Given the description of an element on the screen output the (x, y) to click on. 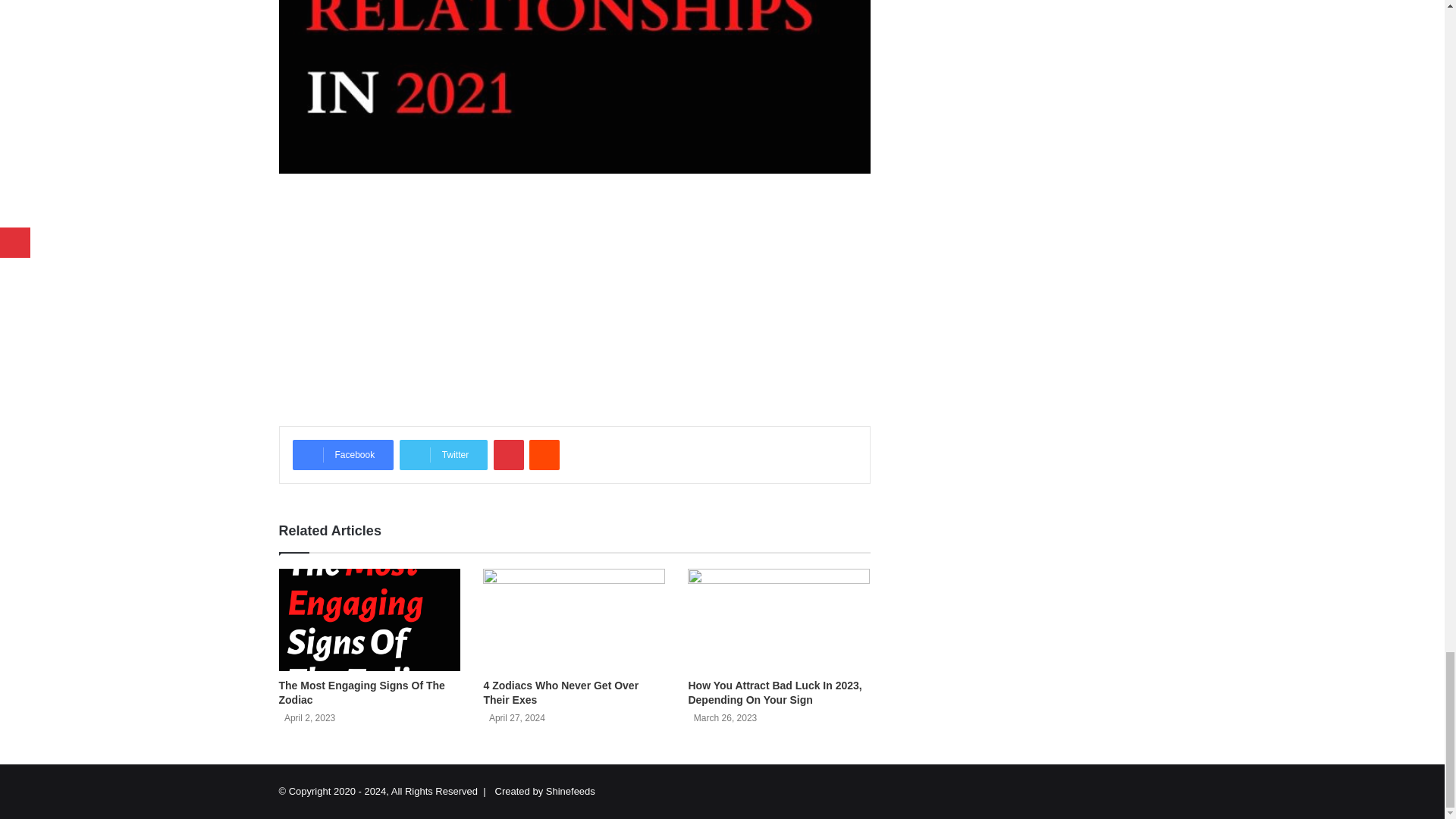
The Most Engaging Signs Of The Zodiac (362, 692)
How You Attract Bad Luck In 2023, Depending On Your Sign (774, 692)
Reddit (544, 454)
Twitter (442, 454)
4 Zodiacs Who Never Get Over Their Exes (561, 692)
Facebook (343, 454)
Facebook (343, 454)
Twitter (442, 454)
Pinterest (508, 454)
